Given the description of an element on the screen output the (x, y) to click on. 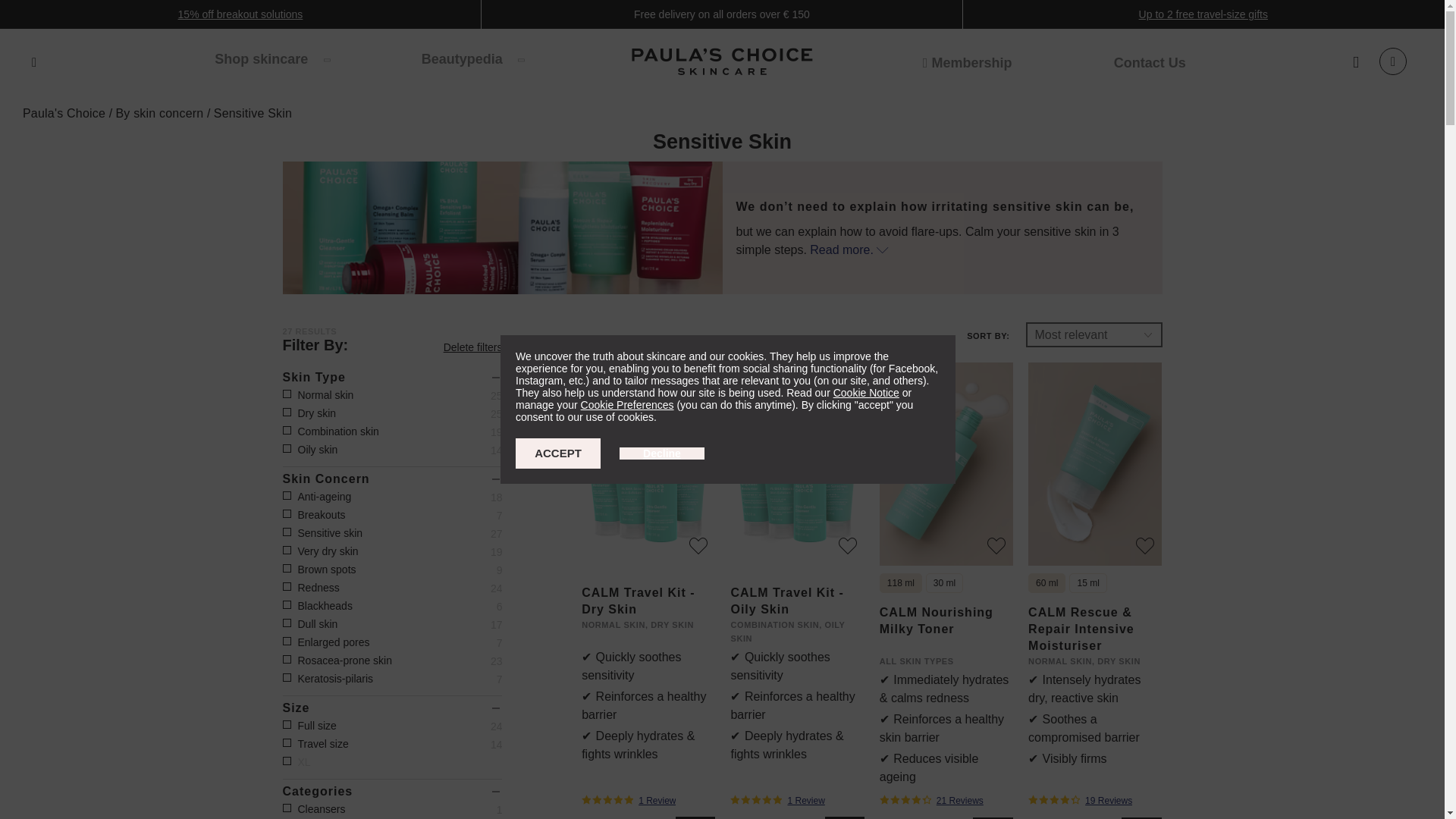
Go to By skin concern (160, 113)
1 Review (796, 800)
21 Reviews (946, 800)
Shop skincare (272, 58)
Become a member (967, 62)
Up to 2 free travel-size gifts (1203, 14)
Edit shopping bag (1392, 61)
1 Review (647, 800)
Go to Product: CALM Travel Kit - Dry Skin (637, 600)
19 Reviews (1094, 800)
